Given the description of an element on the screen output the (x, y) to click on. 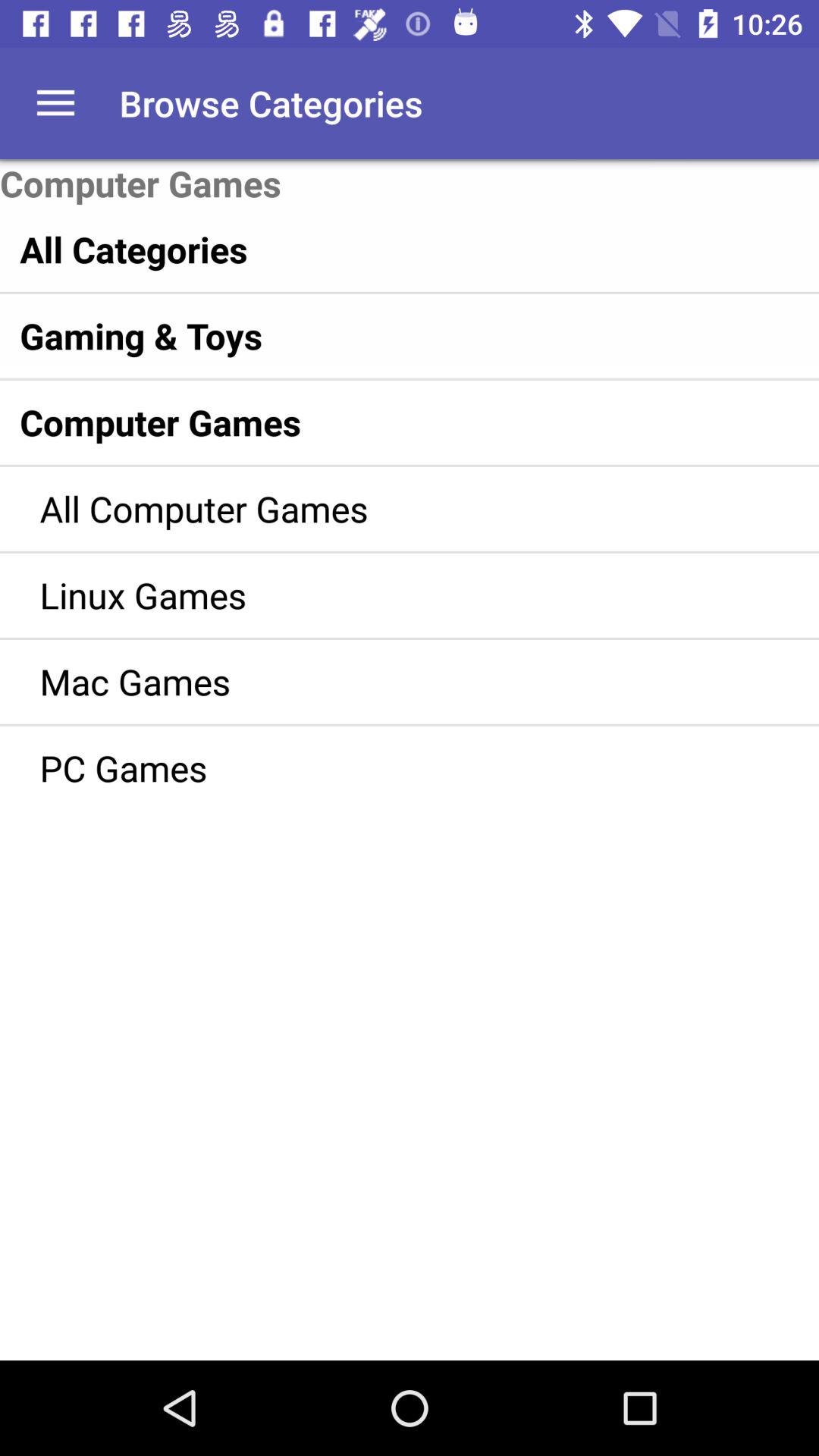
scroll to the pc games icon (387, 767)
